Given the description of an element on the screen output the (x, y) to click on. 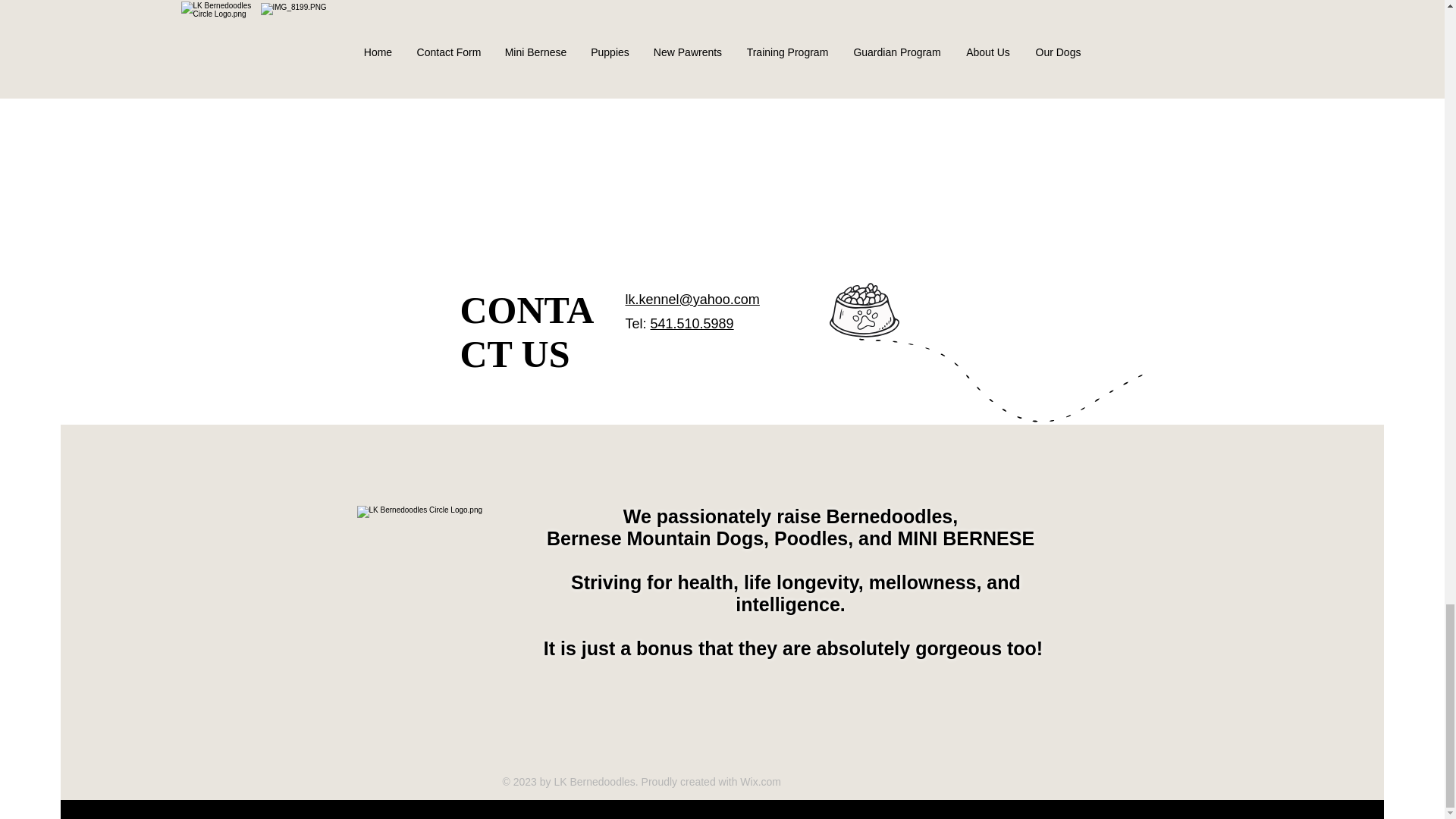
541.510.5989 (691, 323)
Wix.com (759, 781)
